Given the description of an element on the screen output the (x, y) to click on. 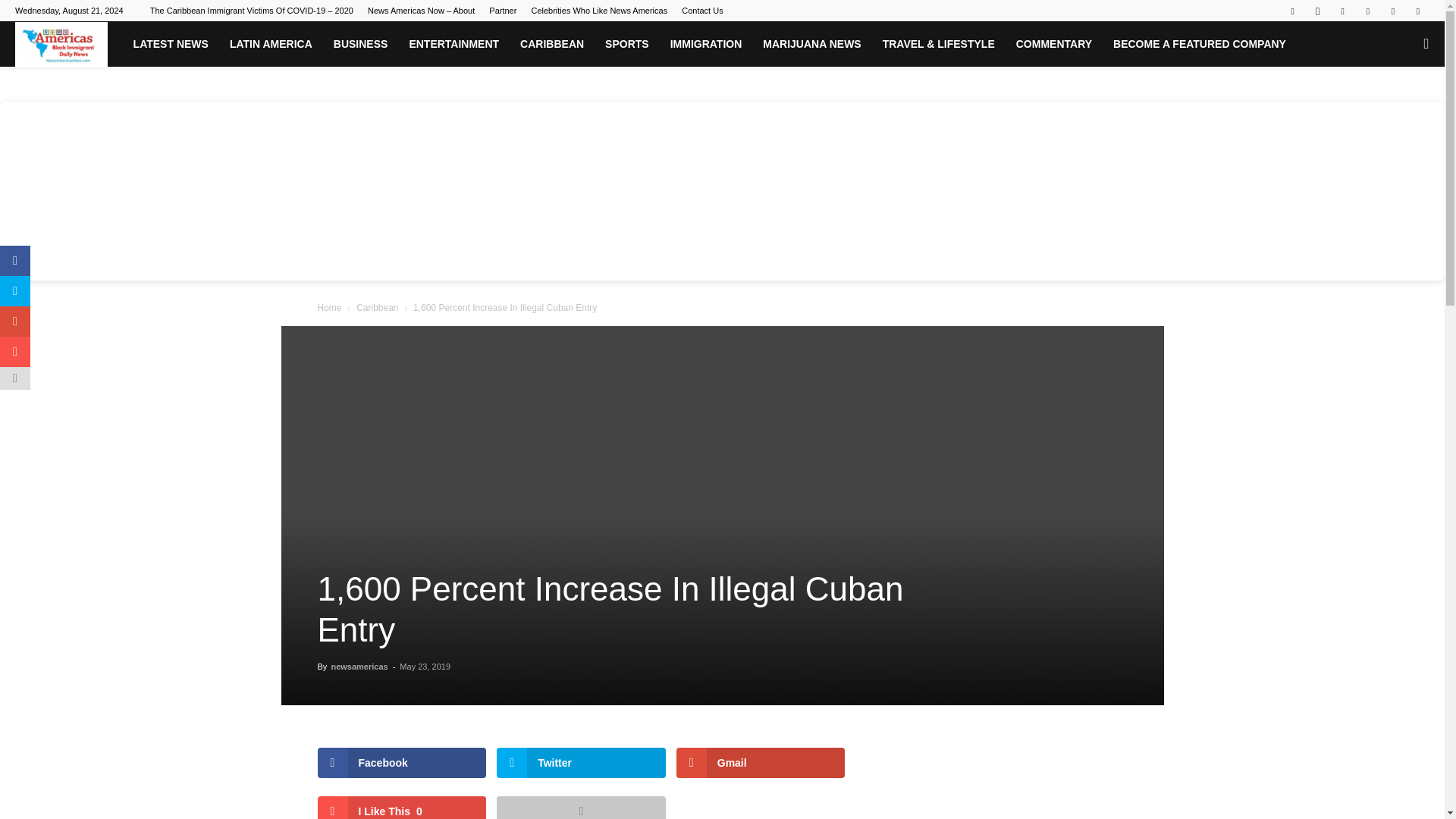
LATIN AMERICA (271, 43)
Contact Us (701, 10)
Twitter (1393, 10)
Pinterest (1367, 10)
Celebrities Who Like News Americas (598, 10)
Partner (502, 10)
Facebook (1292, 10)
Instagram (1317, 10)
BUSINESS (360, 43)
Contact  (701, 10)
